Given the description of an element on the screen output the (x, y) to click on. 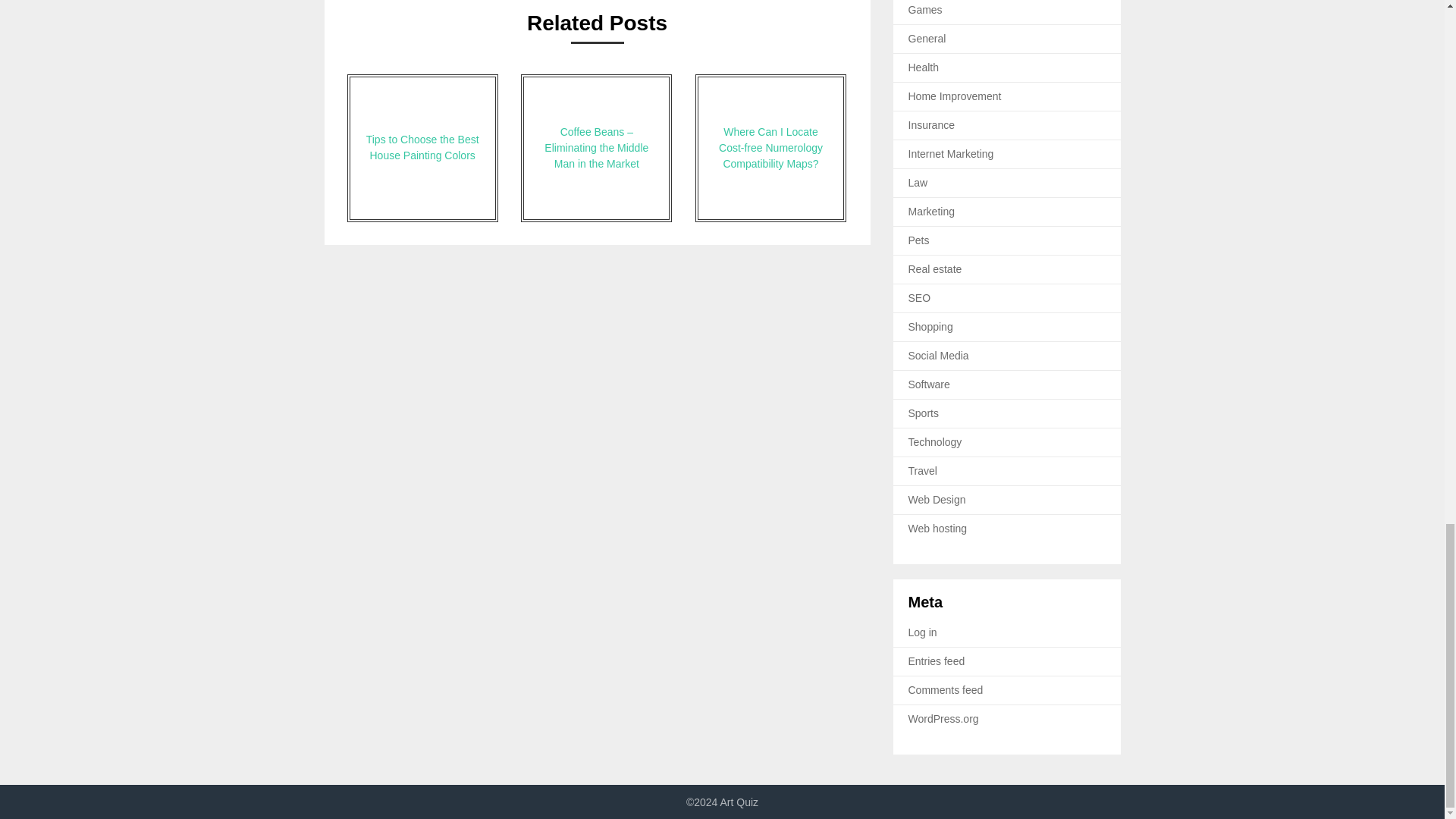
Tips to Choose the Best House Painting Colors (422, 147)
Pets (919, 240)
General (927, 38)
Marketing (931, 211)
Tips to Choose the Best House Painting Colors (422, 147)
Where Can I Locate Cost-free Numerology Compatibility Maps? (770, 147)
Insurance (931, 124)
Health (923, 67)
Where Can I Locate Cost-free Numerology Compatibility Maps? (770, 147)
Games (925, 9)
